Given the description of an element on the screen output the (x, y) to click on. 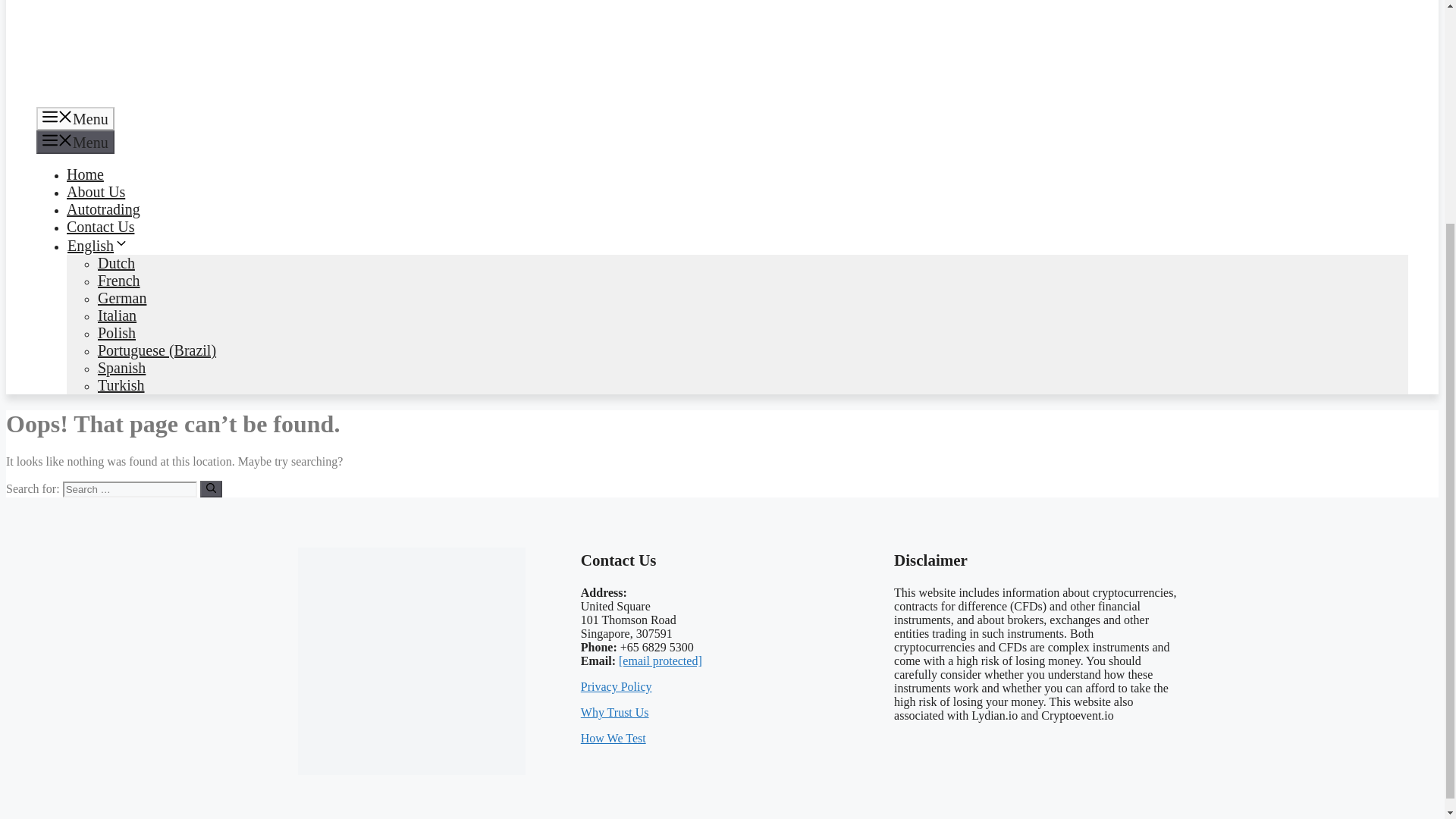
Polish (116, 332)
German (122, 297)
French (118, 280)
How We Test (613, 738)
Home (84, 174)
Italian (116, 315)
French (118, 280)
Italian (116, 315)
Menu (75, 141)
English (97, 245)
English (97, 245)
Spanish (121, 367)
Privacy Policy (616, 686)
Autotrading (102, 208)
Turkish (120, 384)
